Given the description of an element on the screen output the (x, y) to click on. 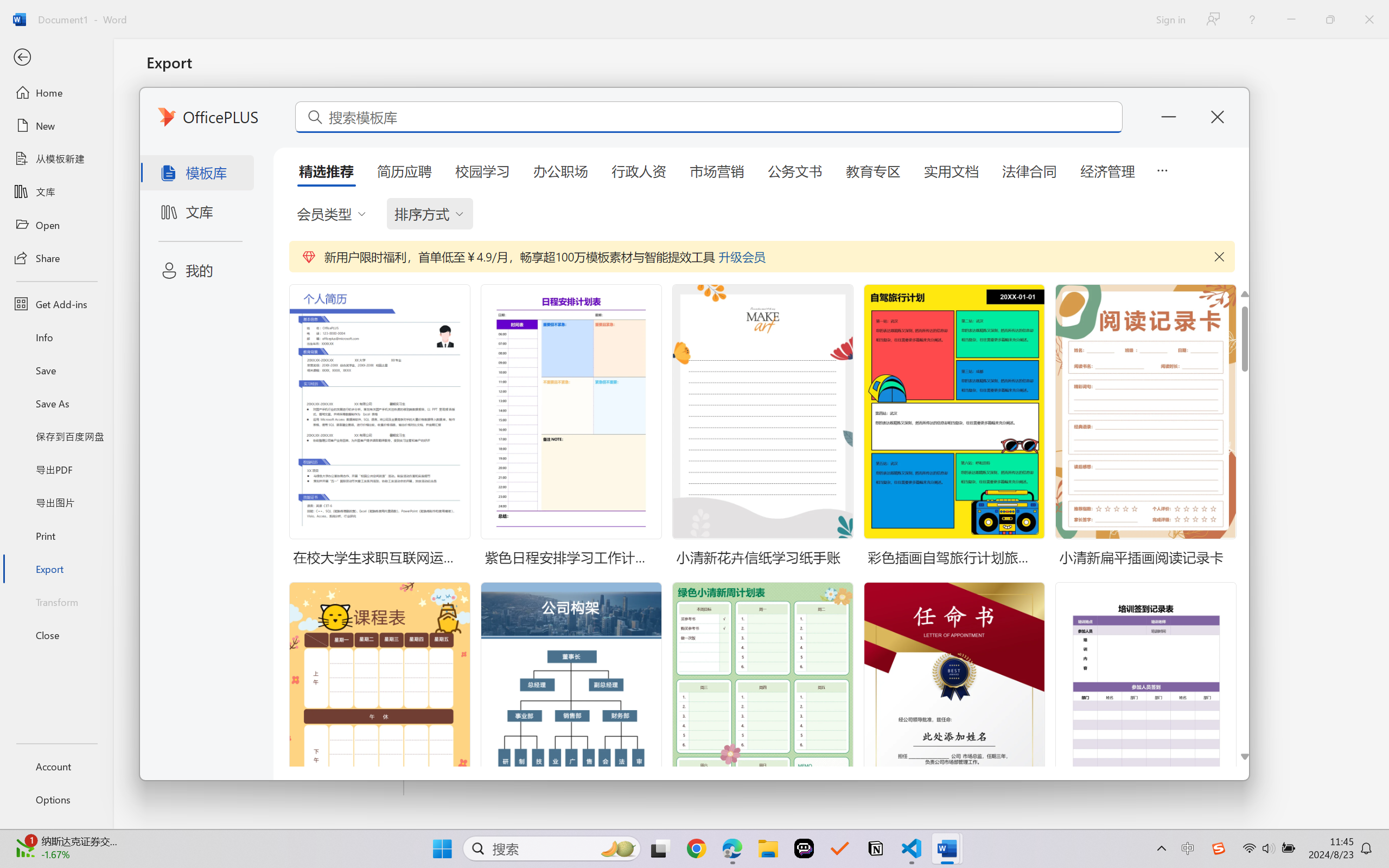
Export (56, 568)
